Given the description of an element on the screen output the (x, y) to click on. 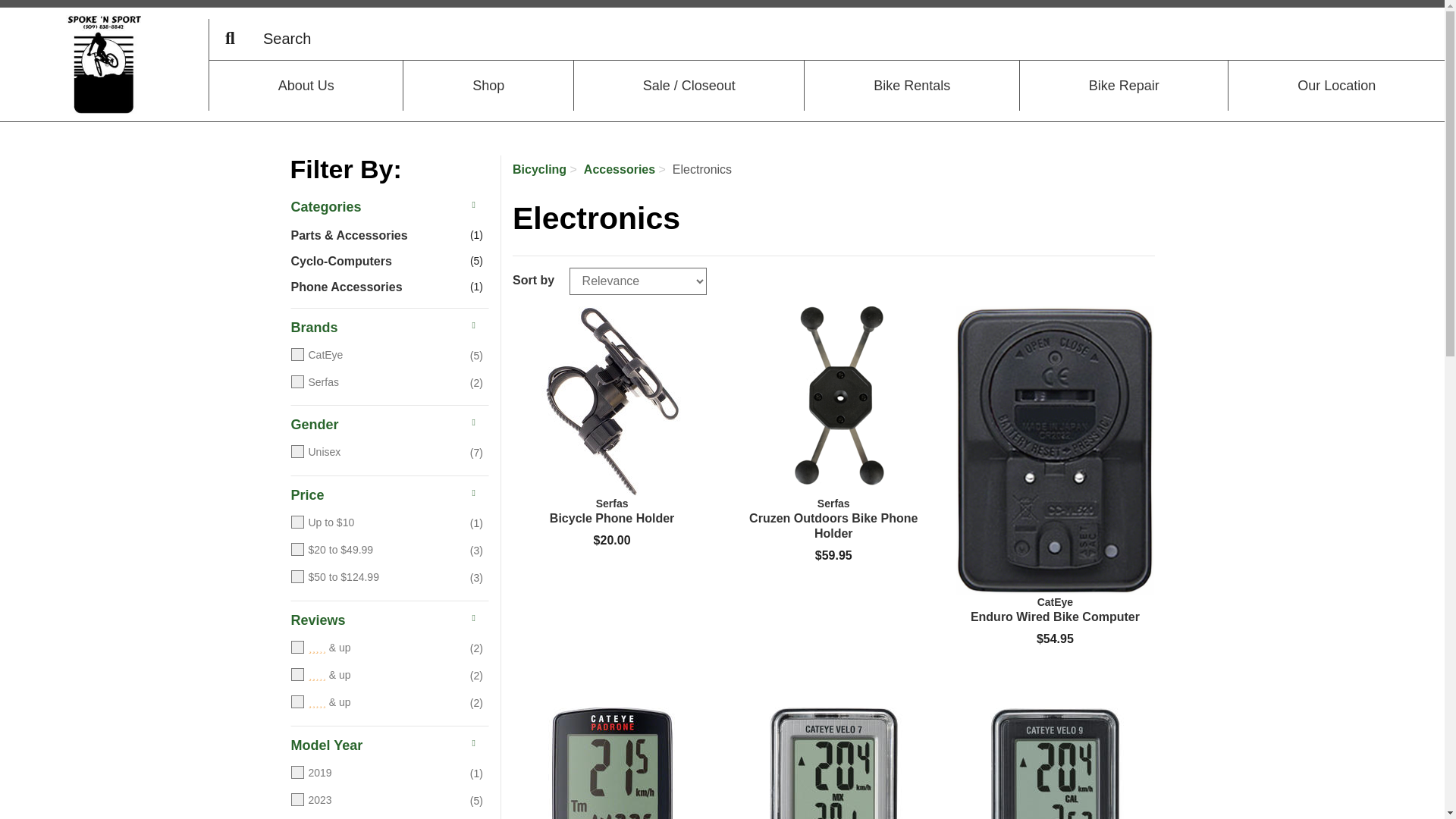
Serfas Bicycle Phone Holder (611, 401)
Serfas Cruzen Outdoors Bike Phone Holder (833, 518)
CatEye Enduro Wired Bike Computer (1054, 609)
3 (374, 648)
Cyclo-Computers (374, 262)
Spoke 'N Sport Home Page (103, 64)
Phone Accessories (374, 287)
Search (229, 38)
About Us (306, 85)
2 (374, 675)
